Given the description of an element on the screen output the (x, y) to click on. 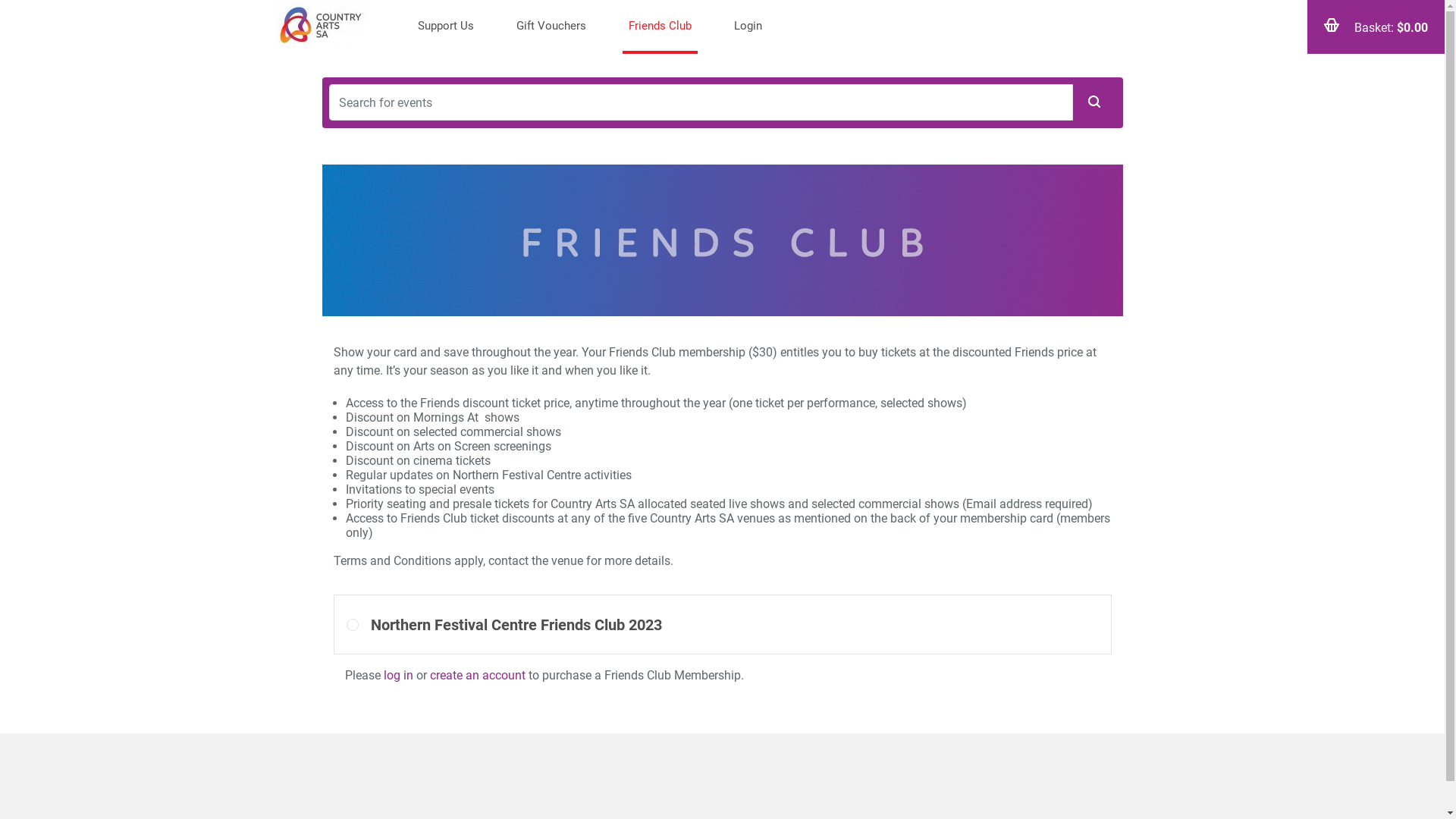
create an account Element type: text (476, 675)
Support Us Element type: text (445, 26)
Friends Club Element type: text (658, 26)
log in Element type: text (398, 675)
Login Element type: text (748, 26)
Gift Vouchers Element type: text (550, 26)
Basket: $0.00 Element type: text (1375, 26)
